Given the description of an element on the screen output the (x, y) to click on. 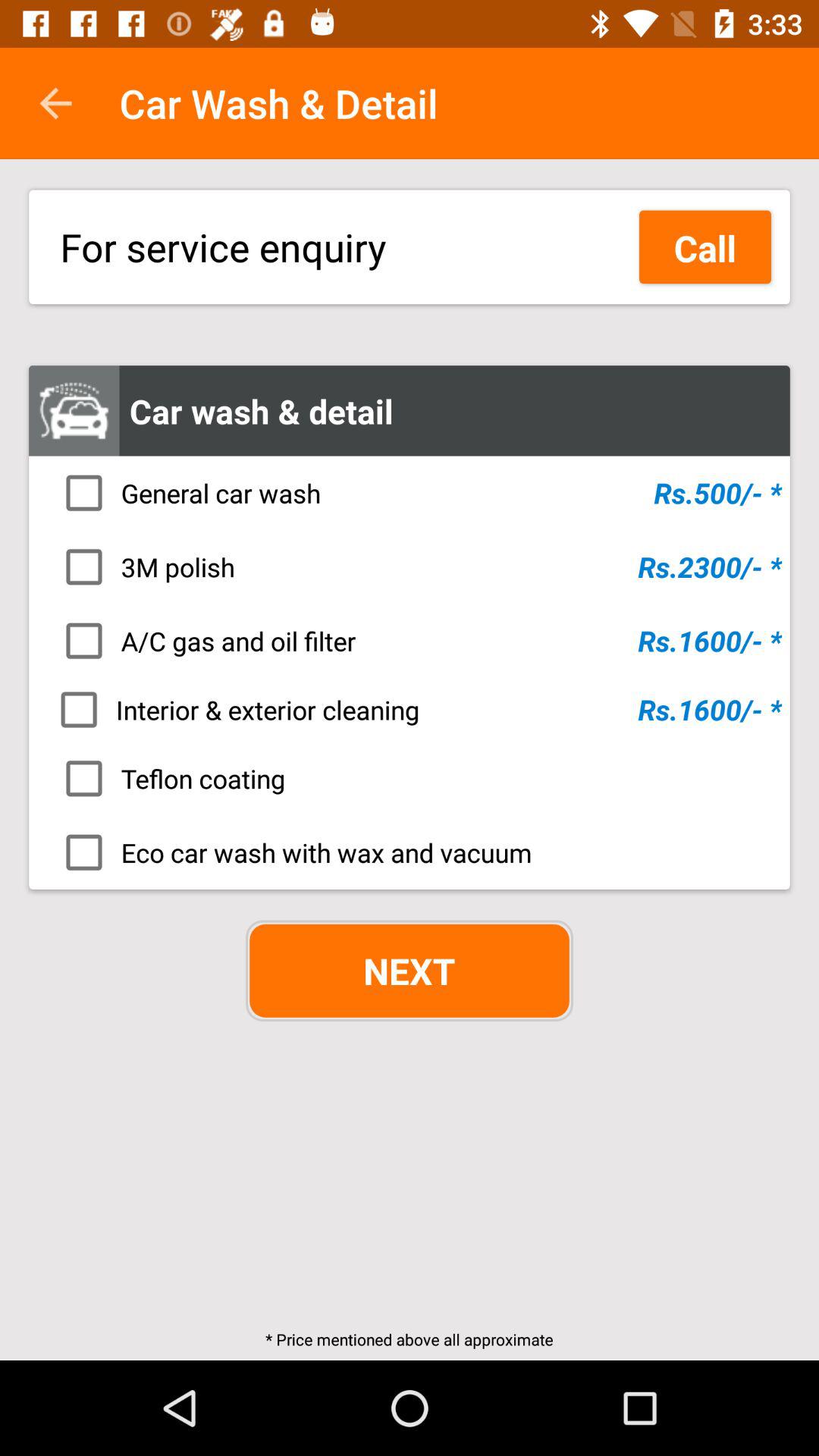
turn off interior & exterior cleaning item (414, 709)
